Given the description of an element on the screen output the (x, y) to click on. 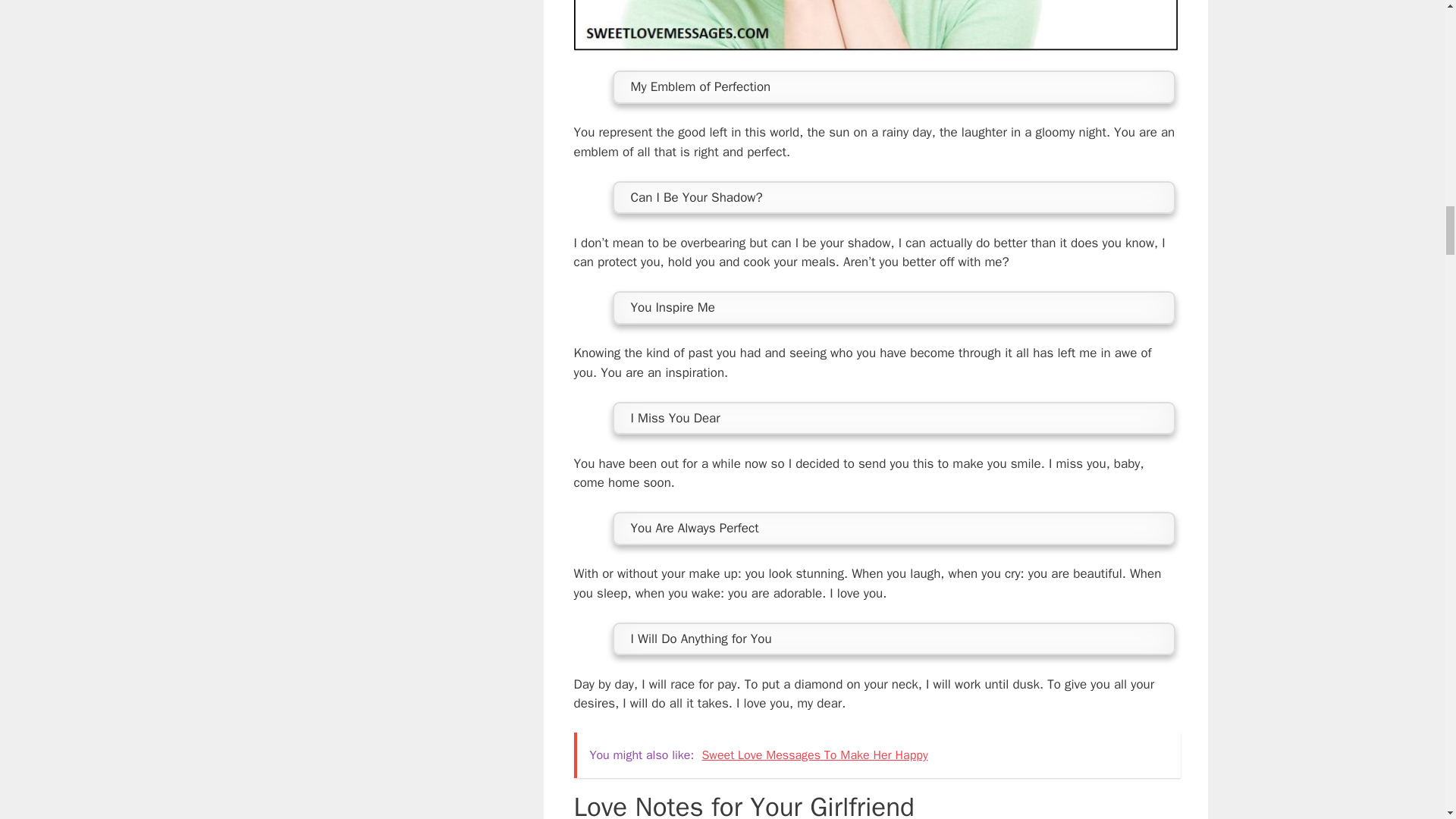
You might also like:  Sweet Love Messages To Make Her Happy (876, 755)
